Given the description of an element on the screen output the (x, y) to click on. 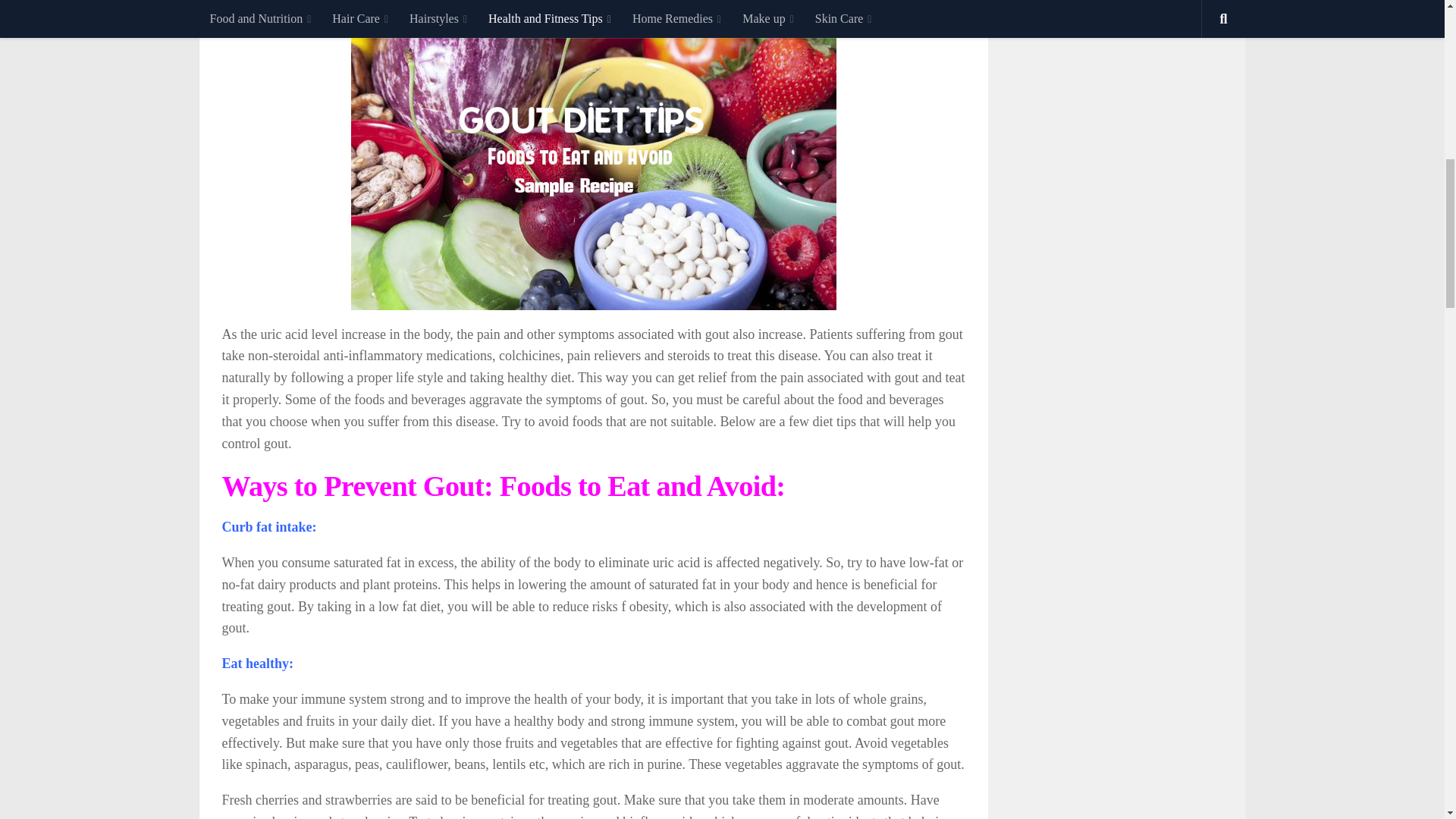
Advertisement (524, 11)
